Given the description of an element on the screen output the (x, y) to click on. 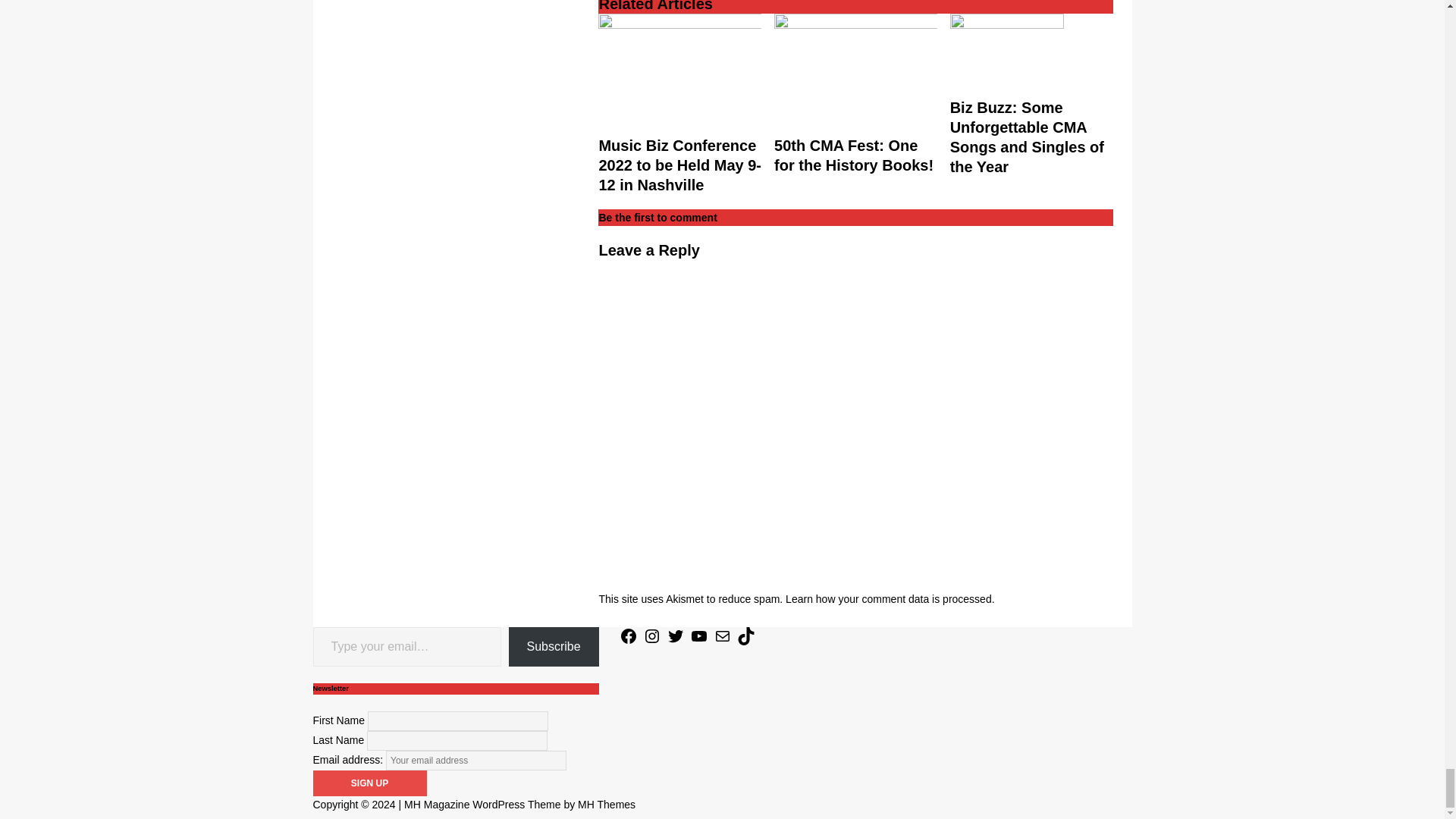
Sign up (369, 783)
